Given the description of an element on the screen output the (x, y) to click on. 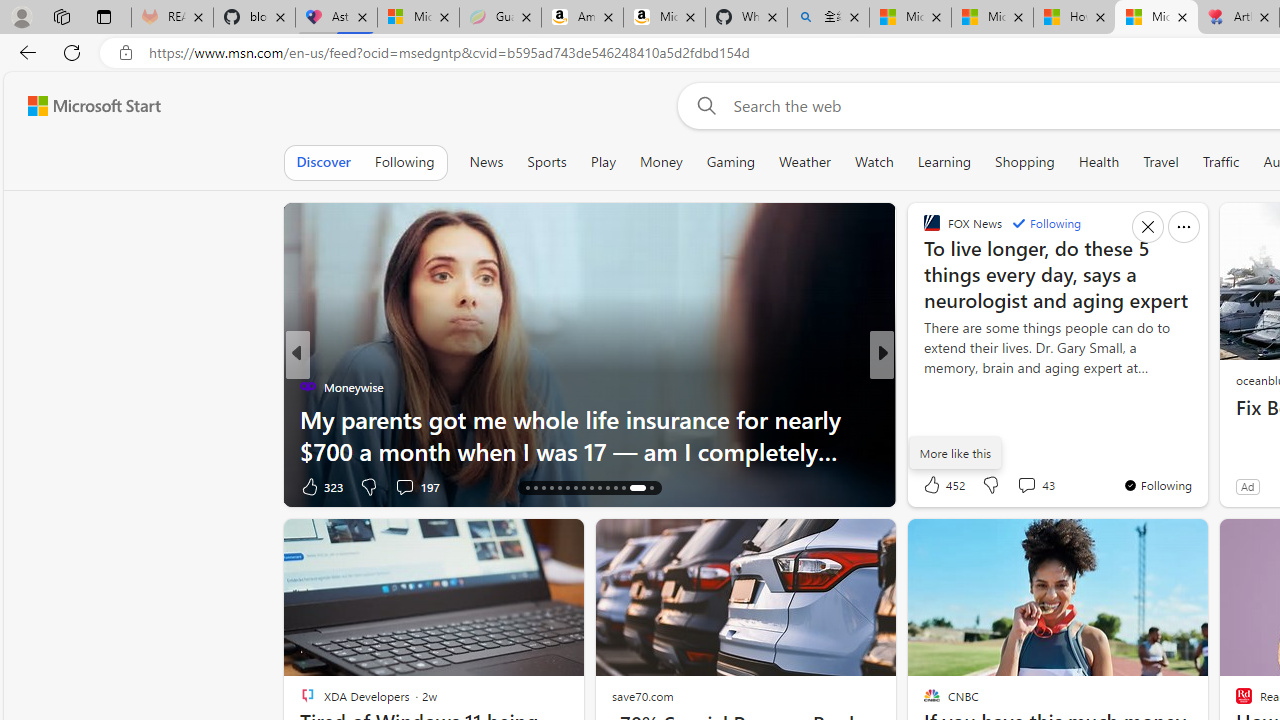
AutomationID: tab-17 (535, 487)
AutomationID: tab-26 (606, 487)
Learning (944, 162)
AutomationID: tab-18 (542, 487)
